Given the description of an element on the screen output the (x, y) to click on. 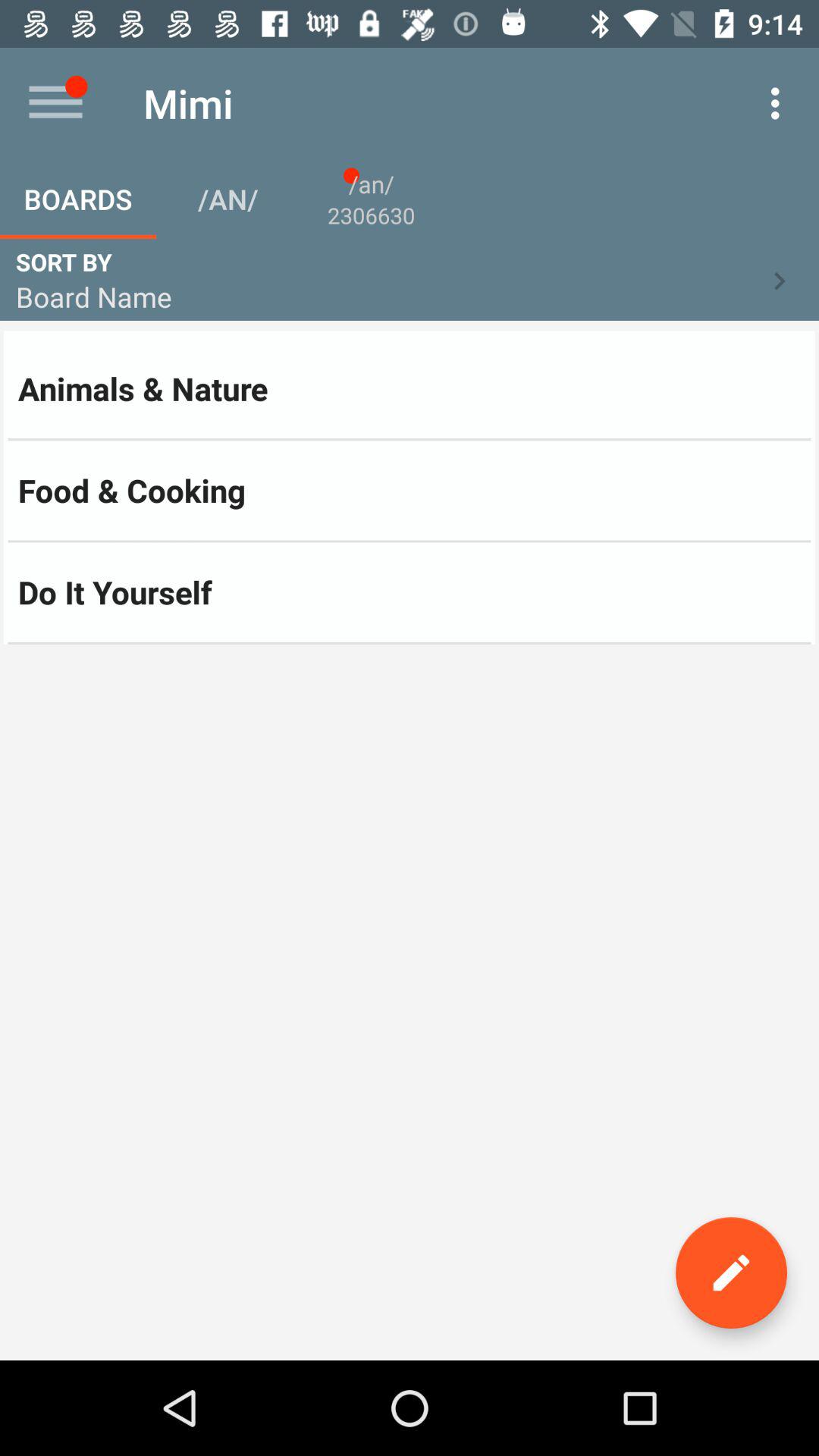
menu (55, 103)
